Given the description of an element on the screen output the (x, y) to click on. 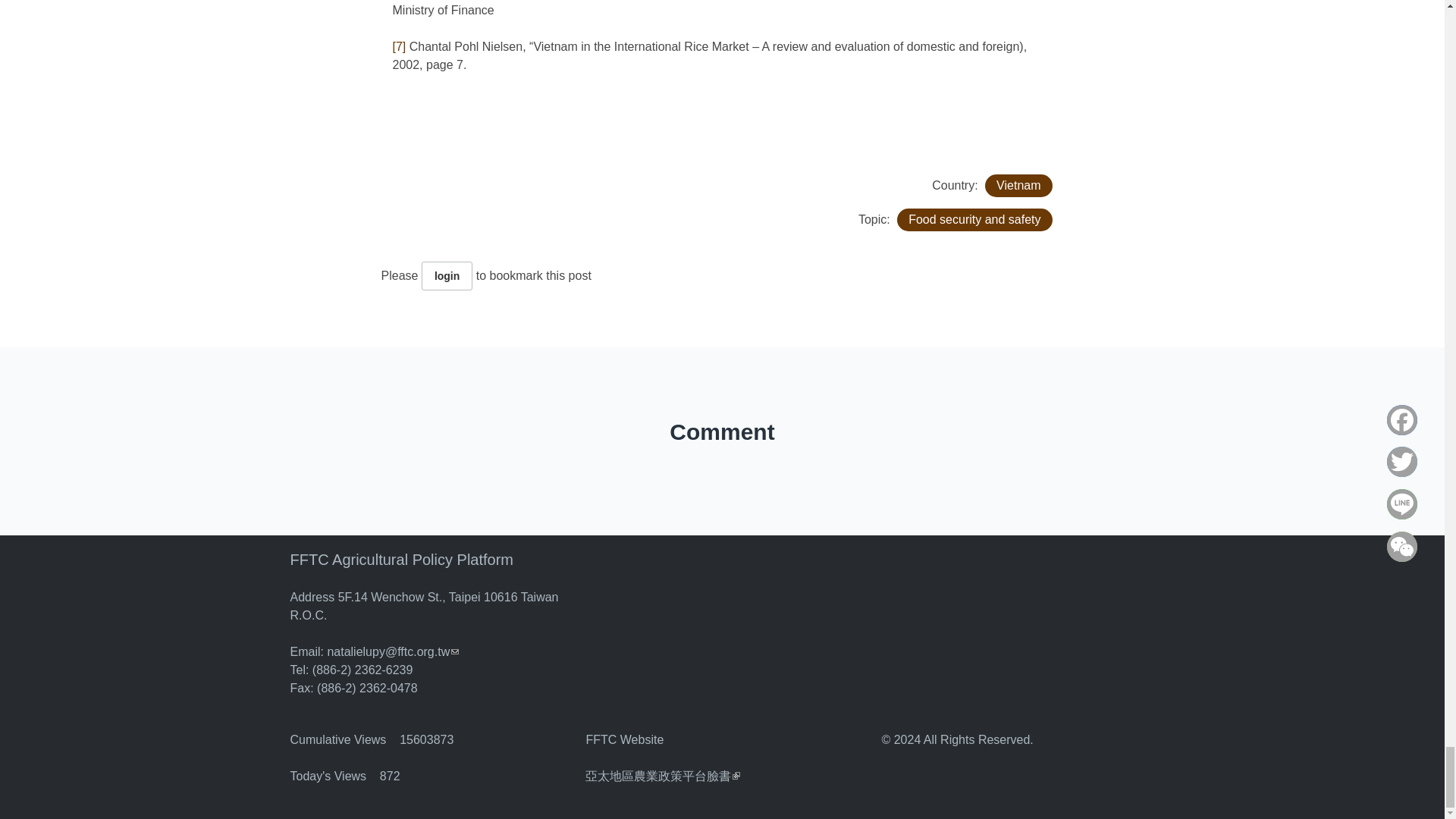
Food security and safety (973, 219)
Vietnam (1018, 185)
login (446, 275)
